Given the description of an element on the screen output the (x, y) to click on. 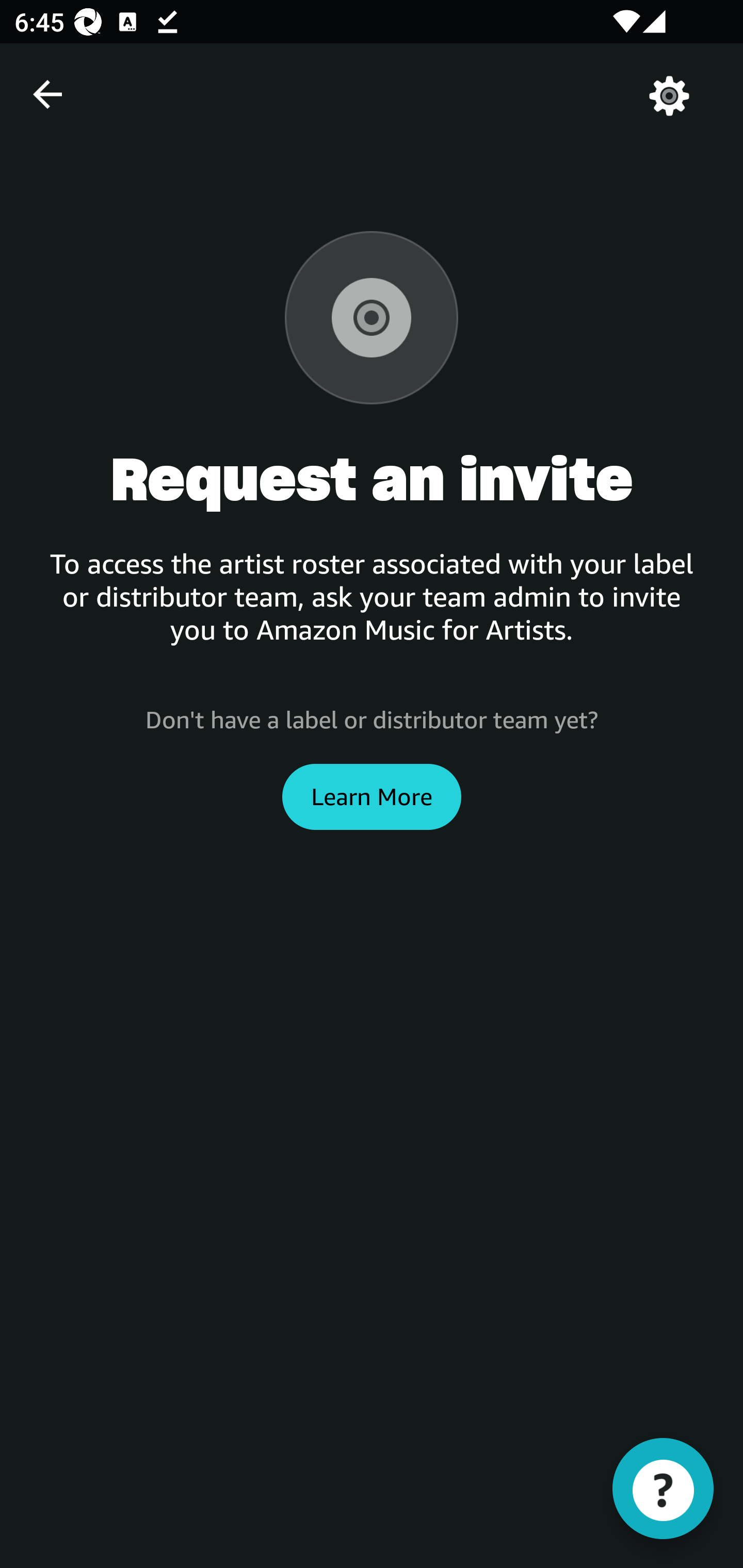
Learn more button Learn More (371, 796)
